Given the description of an element on the screen output the (x, y) to click on. 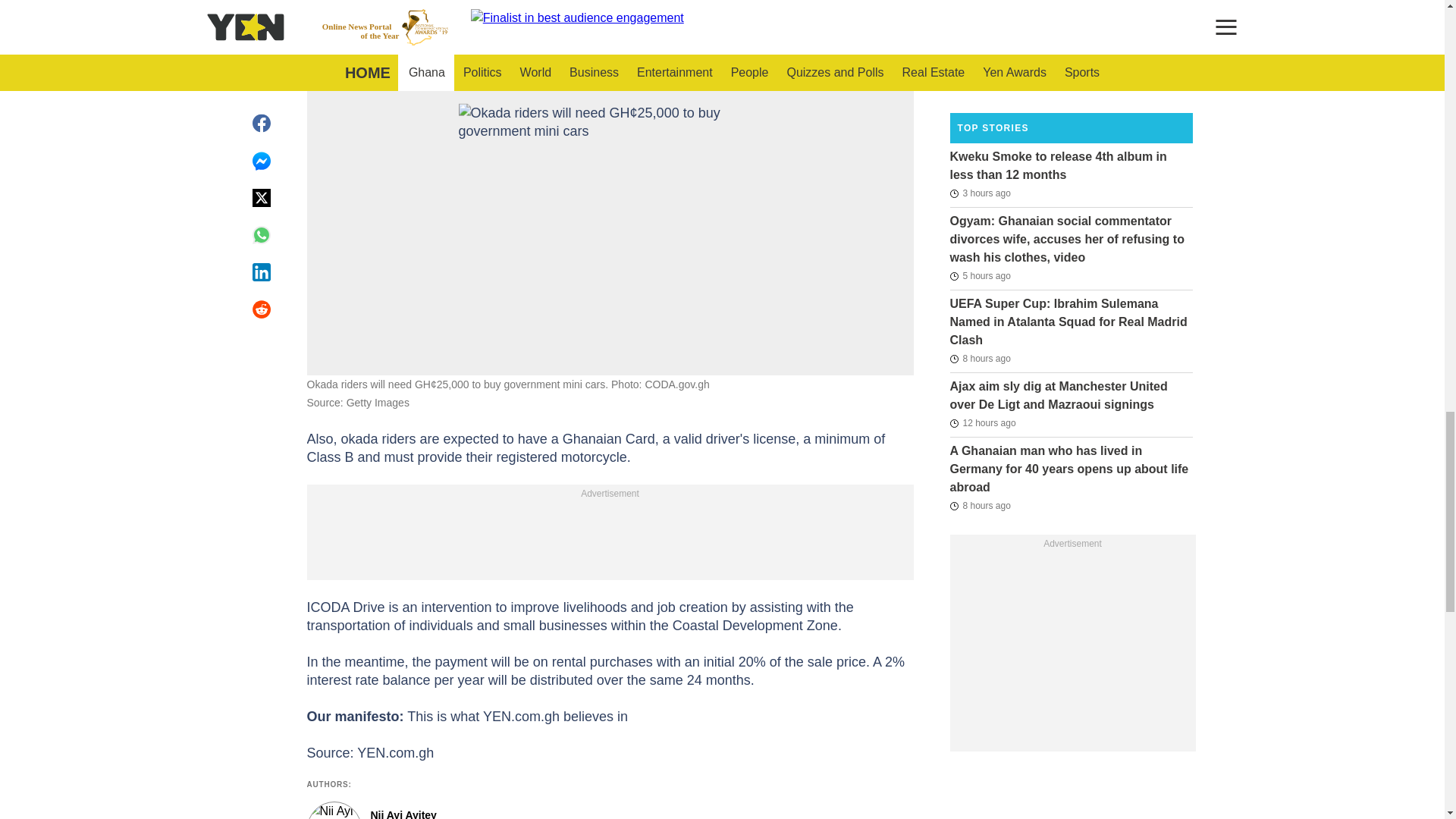
2024-08-07T10:26:02Z (978, 84)
2016-08-23T18:36:24Z (979, 5)
Expand image (895, 51)
2024-08-14T11:00:39Z (979, 358)
Author page (533, 810)
2024-08-14T06:24:07Z (981, 423)
2024-08-14T13:49:51Z (979, 275)
2024-08-14T16:13:34Z (979, 193)
2024-08-14T11:08:02Z (979, 505)
